Given the description of an element on the screen output the (x, y) to click on. 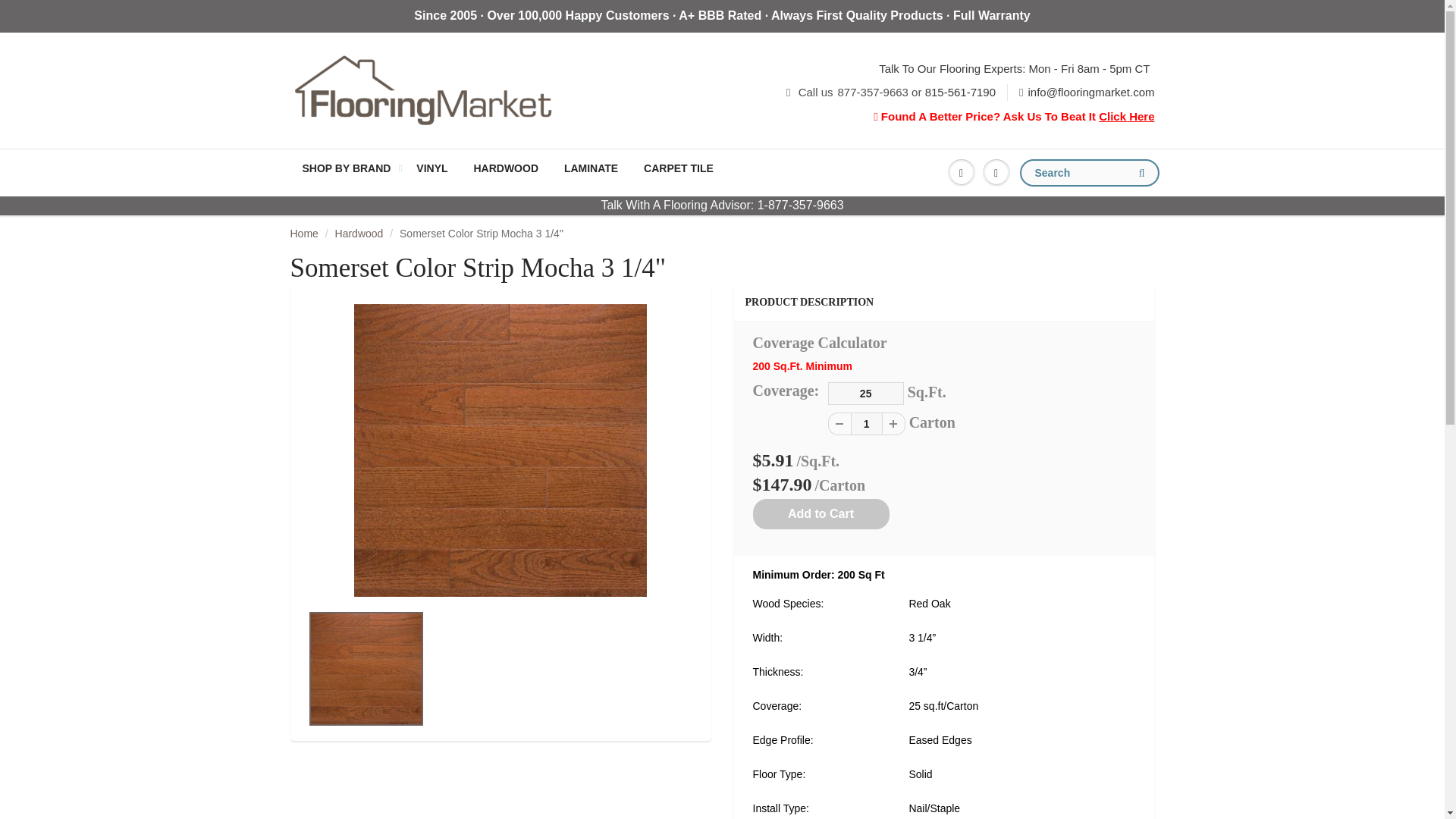
25 (866, 393)
Hardwood (359, 233)
1 (866, 423)
Home (303, 233)
Add to Cart (820, 513)
Call us877-357-9663 (852, 91)
815-561-7190 (959, 91)
Click Here (1126, 115)
